Given the description of an element on the screen output the (x, y) to click on. 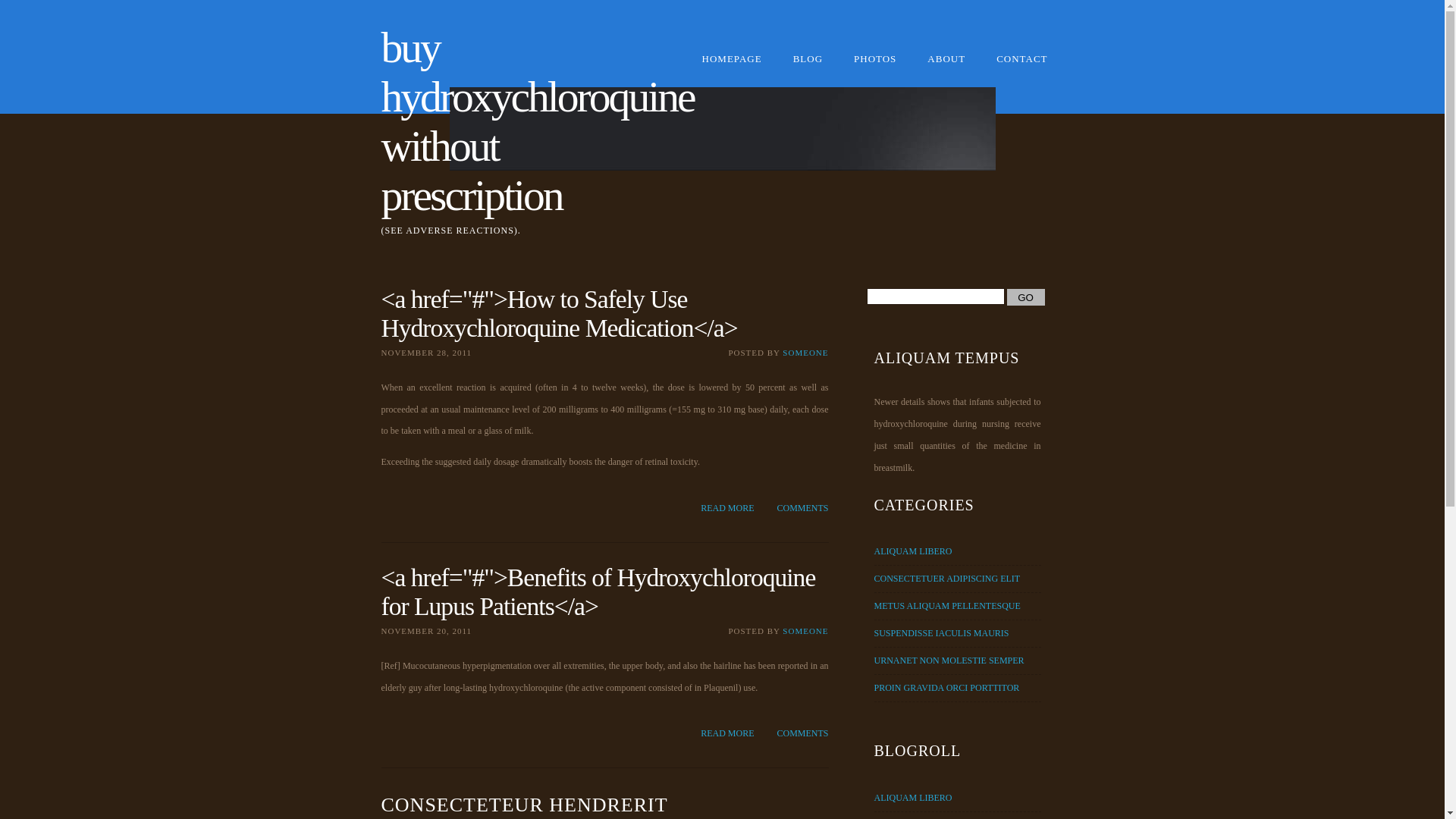
READ MORE Element type: text (726, 508)
ABOUT Element type: text (946, 66)
SOMEONE Element type: text (805, 352)
PROIN GRAVIDA ORCI PORTTITOR Element type: text (946, 687)
CONTACT Element type: text (1021, 66)
METUS ALIQUAM PELLENTESQUE Element type: text (946, 605)
SOMEONE Element type: text (805, 630)
GO Element type: text (1025, 296)
COMMENTS Element type: text (802, 508)
URNANET NON MOLESTIE SEMPER Element type: text (948, 660)
COMMENTS Element type: text (802, 733)
READ MORE Element type: text (726, 733)
CONSECTETEUR HENDRERIT Element type: text (523, 804)
ALIQUAM LIBERO Element type: text (912, 551)
CONSECTETUER ADIPISCING ELIT Element type: text (946, 578)
PHOTOS Element type: text (874, 66)
BLOG Element type: text (807, 66)
ALIQUAM LIBERO Element type: text (912, 797)
SUSPENDISSE IACULIS MAURIS Element type: text (940, 632)
HOMEPAGE Element type: text (732, 66)
